Given the description of an element on the screen output the (x, y) to click on. 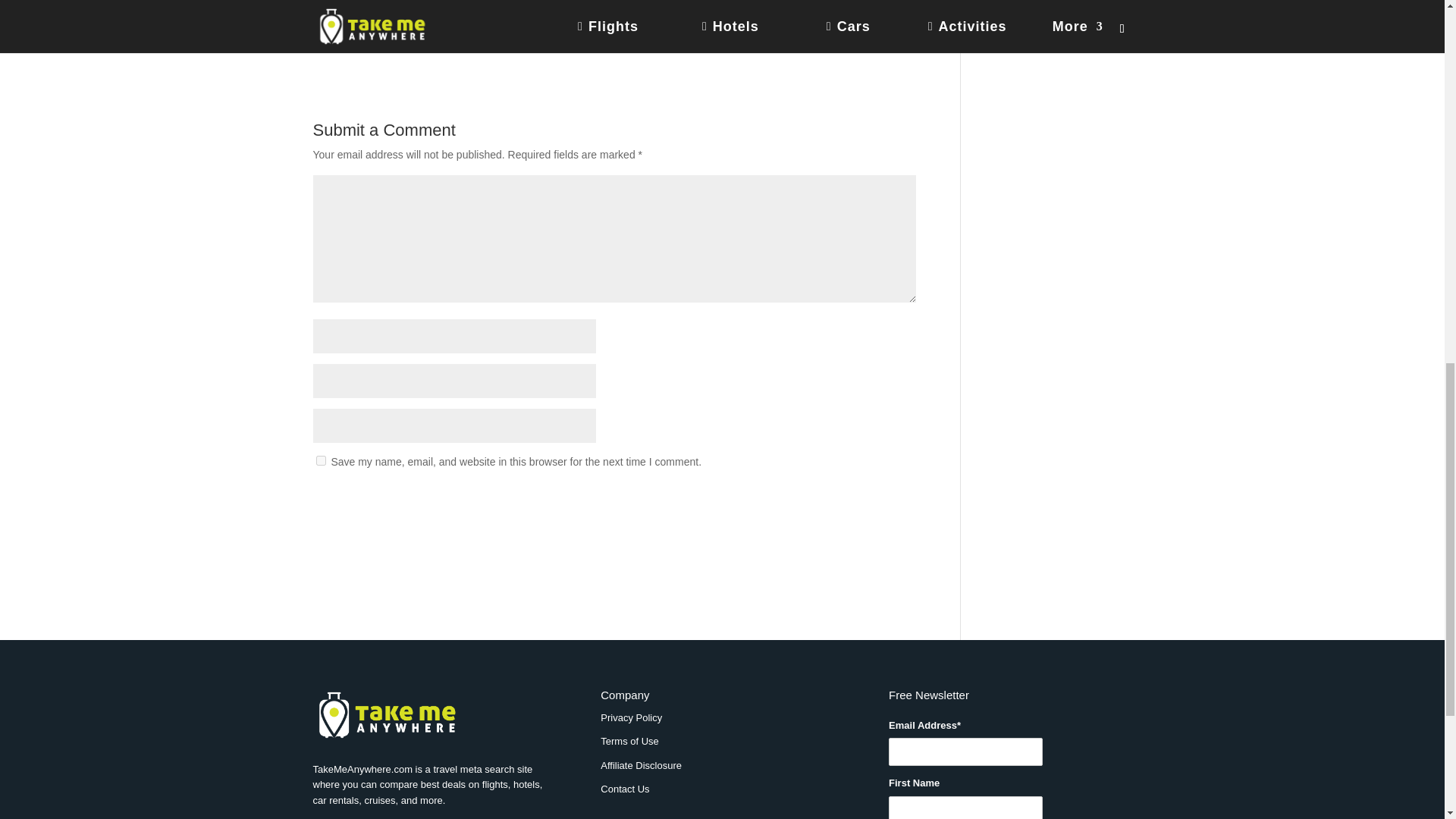
Source link (339, 42)
Submit Comment (840, 501)
yes (319, 460)
Submit Comment (840, 501)
